Given the description of an element on the screen output the (x, y) to click on. 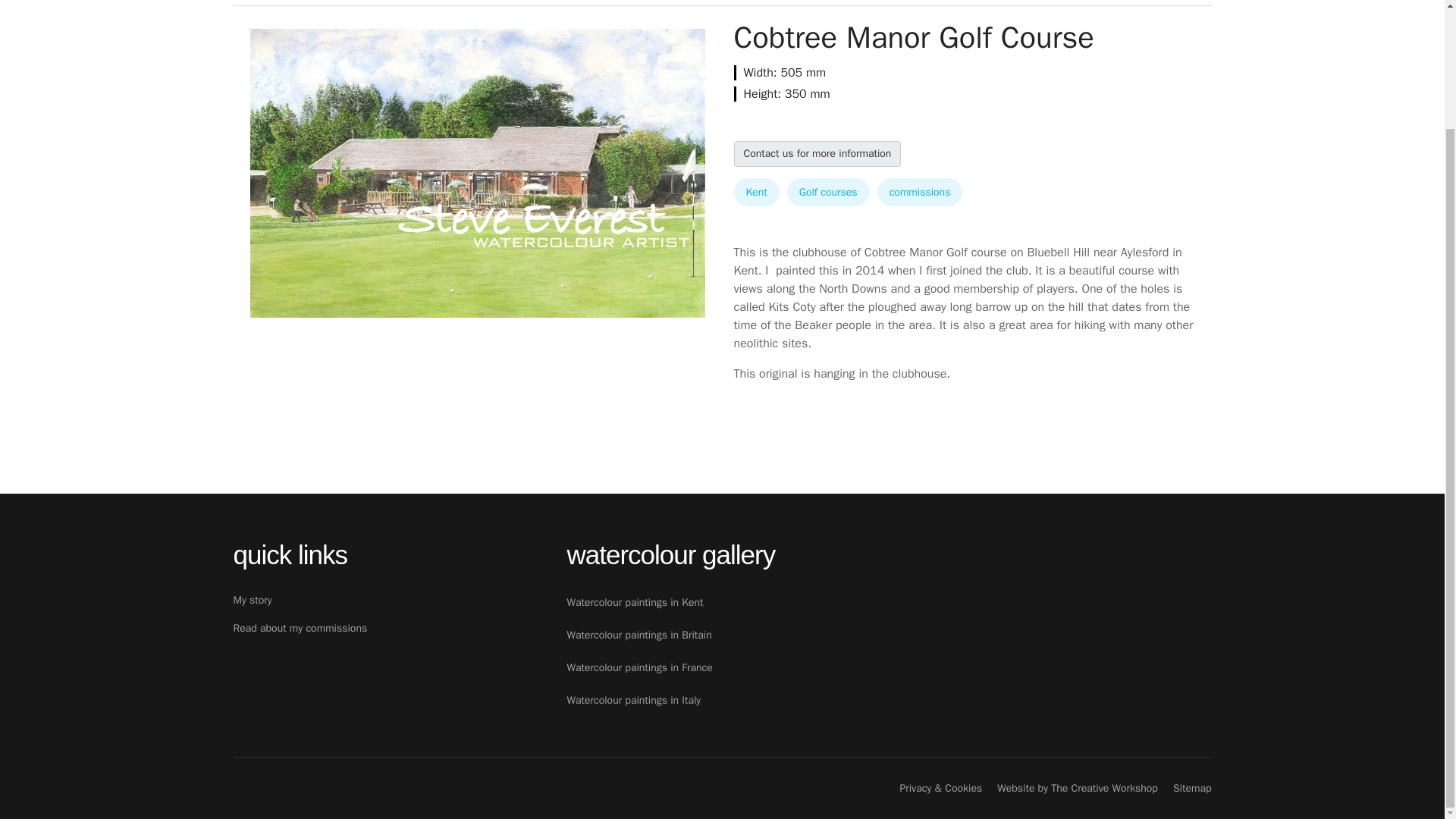
Watercolour paintings in Italy (888, 700)
Sitemap (1192, 788)
Watercolour paintings in Britain (888, 635)
Cobtree Manor Golf Course (477, 172)
Cobtree Manor Golf Course (477, 172)
Website by The Creative Workshop (1077, 788)
Kent (755, 192)
My story (388, 600)
commissions (919, 192)
Golf courses (828, 192)
